Given the description of an element on the screen output the (x, y) to click on. 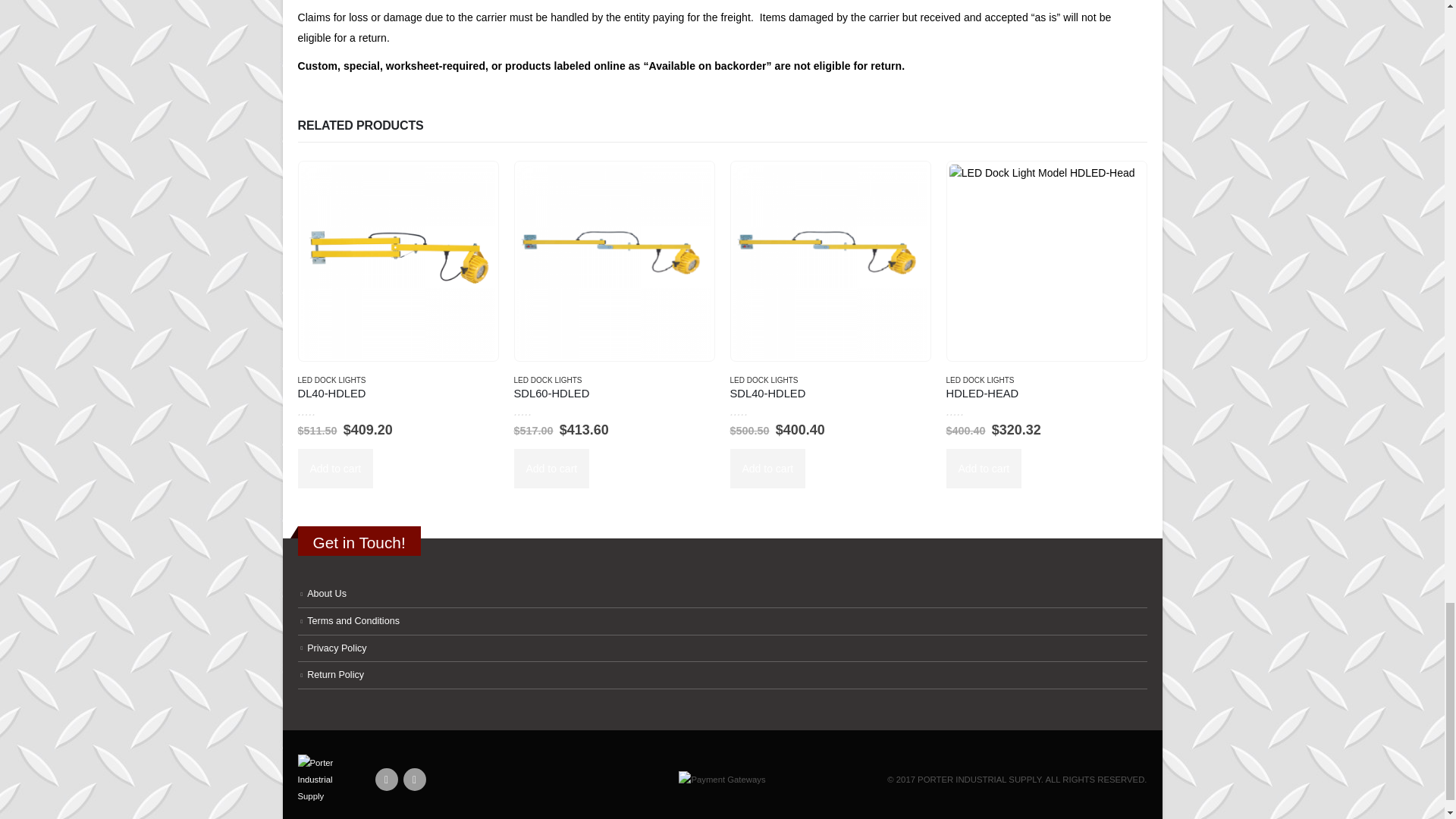
0 (538, 411)
0 (322, 411)
